Given the description of an element on the screen output the (x, y) to click on. 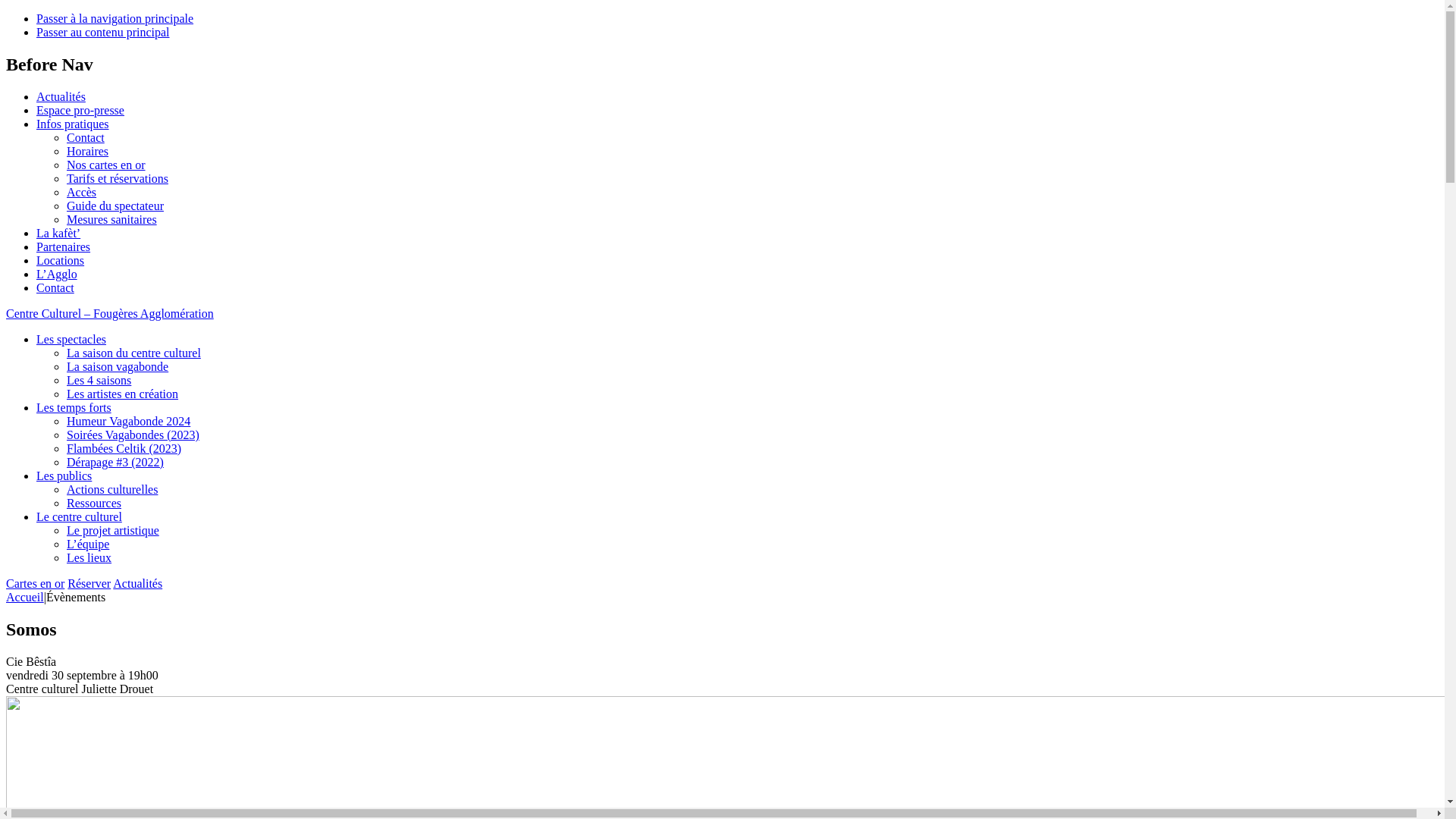
La saison vagabonde Element type: text (117, 366)
Humeur Vagabonde 2024 Element type: text (128, 420)
Cartes en or Element type: text (35, 583)
Ressources Element type: text (93, 502)
Les temps forts Element type: text (73, 407)
Passer au contenu principal Element type: text (102, 31)
Espace pro-presse Element type: text (80, 109)
Contact Element type: text (55, 287)
Partenaires Element type: text (63, 246)
Mesures sanitaires Element type: text (111, 219)
Guide du spectateur Element type: text (114, 205)
Nos cartes en or Element type: text (105, 164)
Les 4 saisons Element type: text (98, 379)
Locations Element type: text (60, 260)
Horaires Element type: text (87, 150)
Contact Element type: text (85, 137)
Accueil Element type: text (24, 596)
Le centre culturel Element type: text (79, 516)
Les publics Element type: text (63, 475)
Actions culturelles Element type: text (111, 489)
Le projet artistique Element type: text (112, 530)
Infos pratiques Element type: text (72, 123)
Les lieux Element type: text (88, 557)
La saison du centre culturel Element type: text (133, 352)
Les spectacles Element type: text (71, 338)
